Given the description of an element on the screen output the (x, y) to click on. 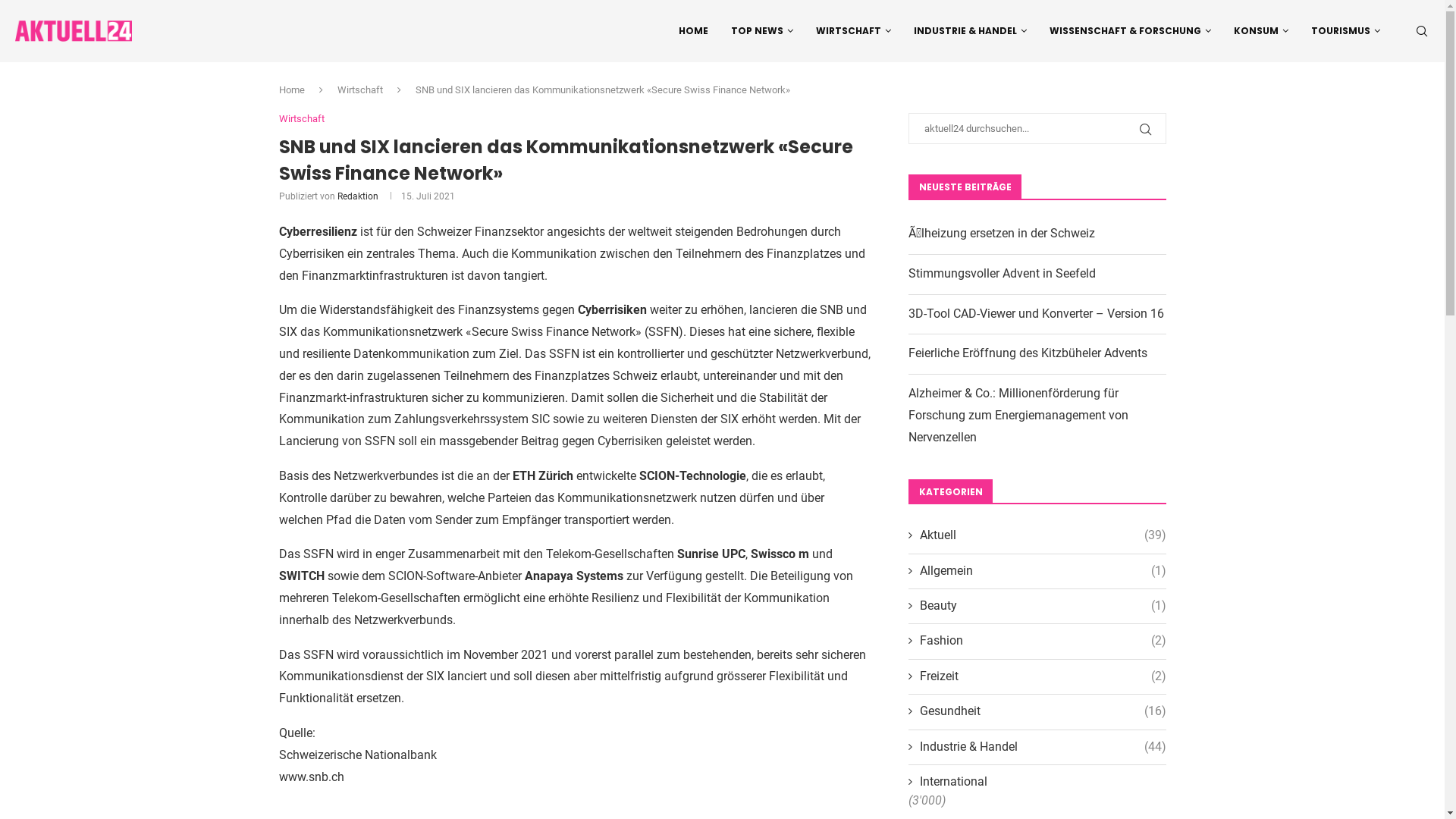
International Element type: text (1037, 781)
Suchen Element type: text (128, 15)
Wirtschaft Element type: text (359, 89)
Home Element type: text (291, 89)
TOURISMUS Element type: text (1345, 30)
Fashion
(2) Element type: text (1037, 640)
WIRTSCHAFT Element type: text (853, 30)
Beauty
(1) Element type: text (1037, 605)
Industrie & Handel
(44) Element type: text (1037, 746)
Freizeit
(2) Element type: text (1037, 676)
Stimmungsvoller Advent in Seefeld Element type: text (1001, 273)
HOME Element type: text (693, 30)
INDUSTRIE & HANDEL Element type: text (969, 30)
WISSENSCHAFT & FORSCHUNG Element type: text (1130, 30)
TOP NEWS Element type: text (762, 30)
Redaktion Element type: text (356, 196)
Gesundheit
(16) Element type: text (1037, 710)
KONSUM Element type: text (1260, 30)
Aktuell
(39) Element type: text (1037, 535)
Wirtschaft Element type: text (301, 118)
Allgemein
(1) Element type: text (1037, 570)
